Given the description of an element on the screen output the (x, y) to click on. 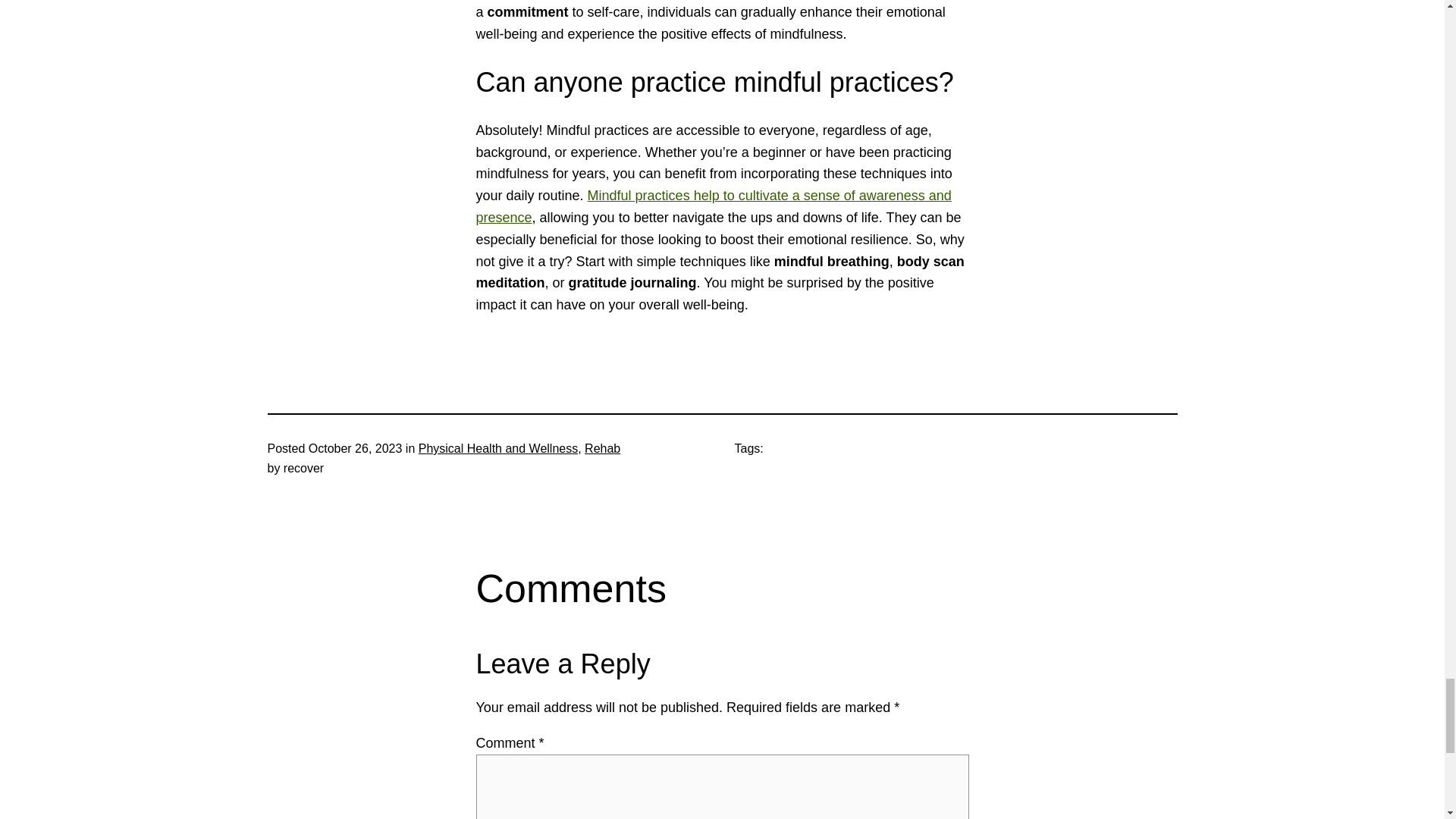
Physical Health and Wellness (498, 448)
Rehab (602, 448)
